Given the description of an element on the screen output the (x, y) to click on. 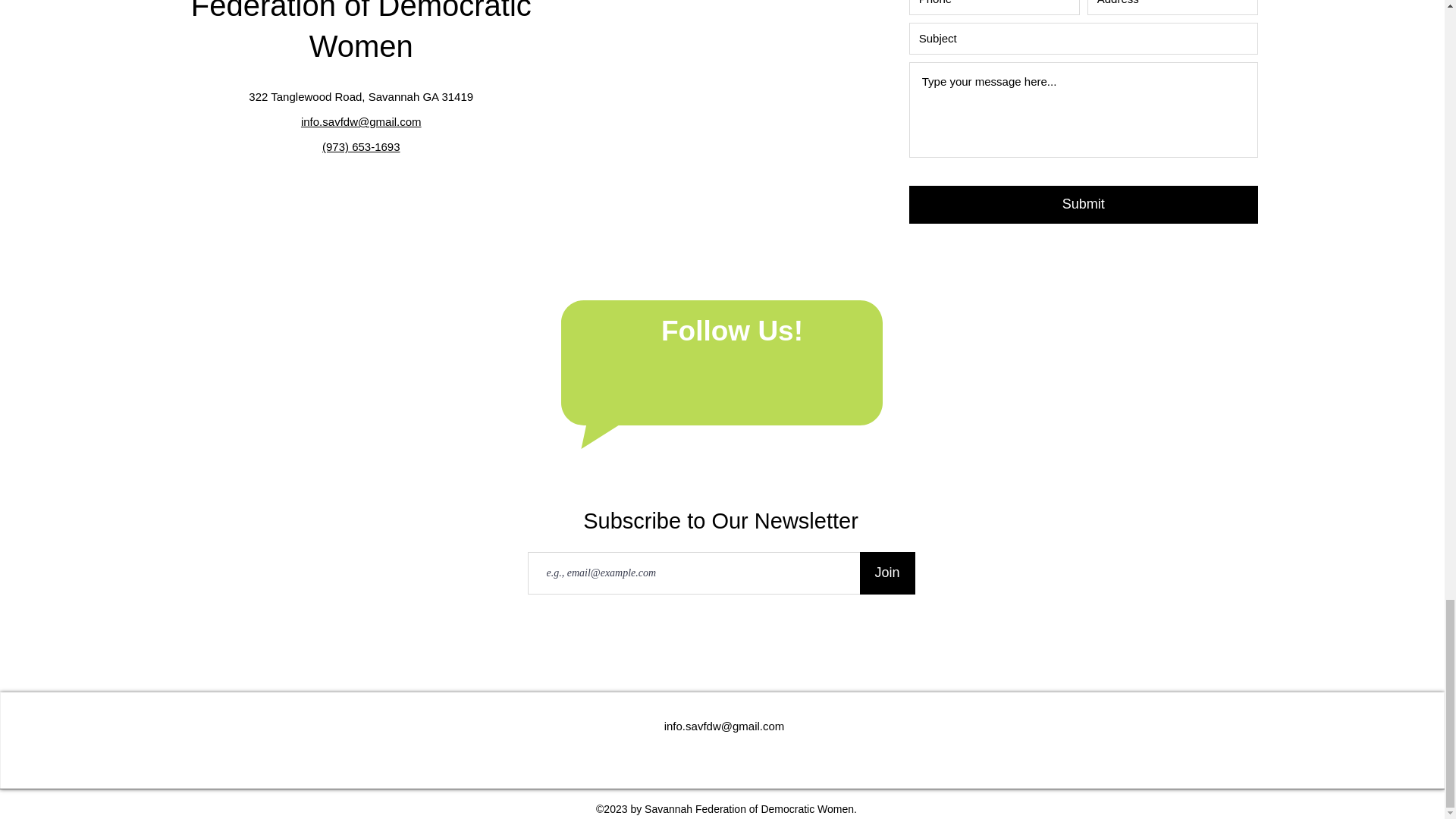
Join (887, 573)
Submit (1082, 204)
